Given the description of an element on the screen output the (x, y) to click on. 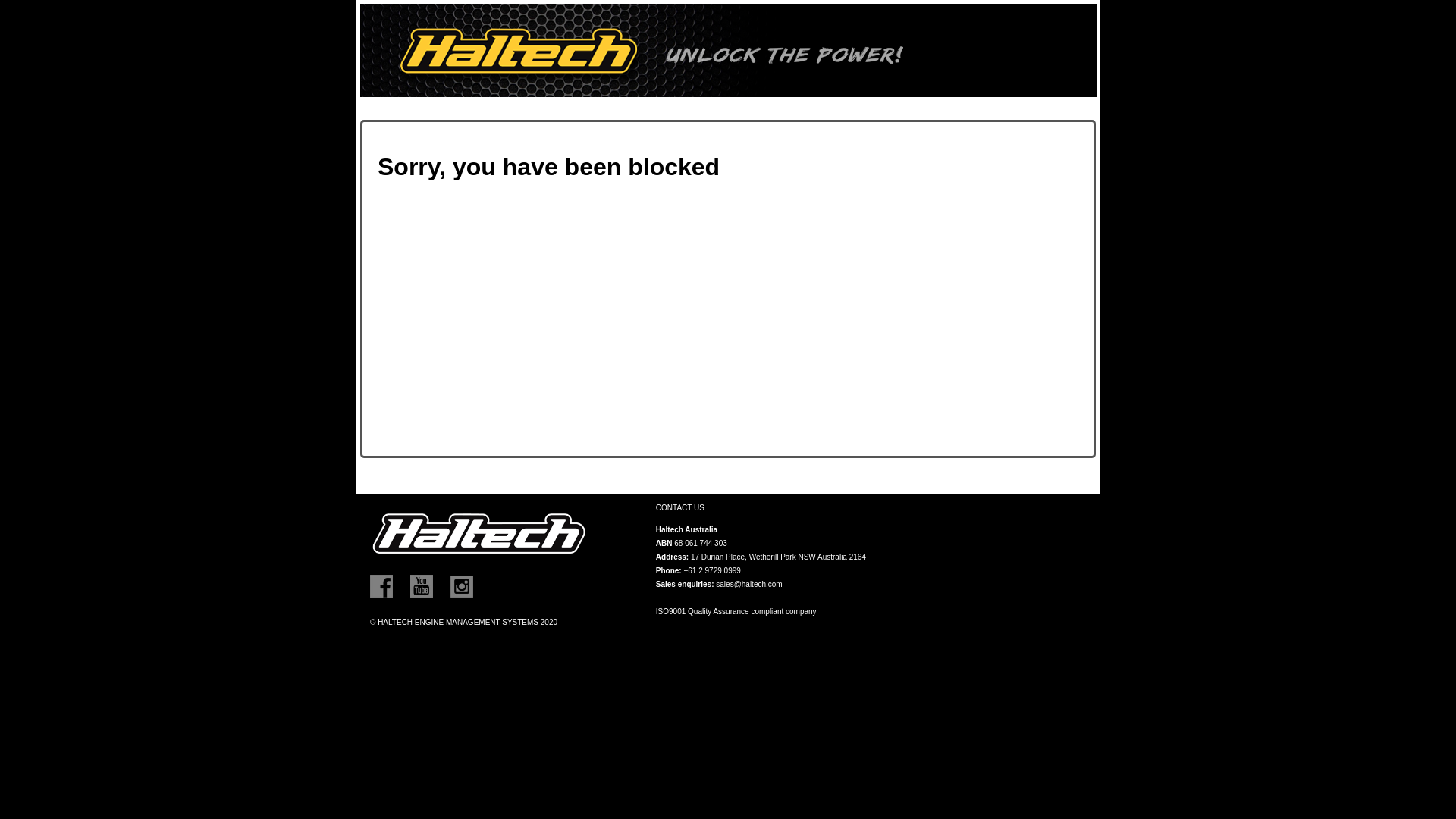
Haltech Engine Management Systems Element type: hover (727, 49)
